Given the description of an element on the screen output the (x, y) to click on. 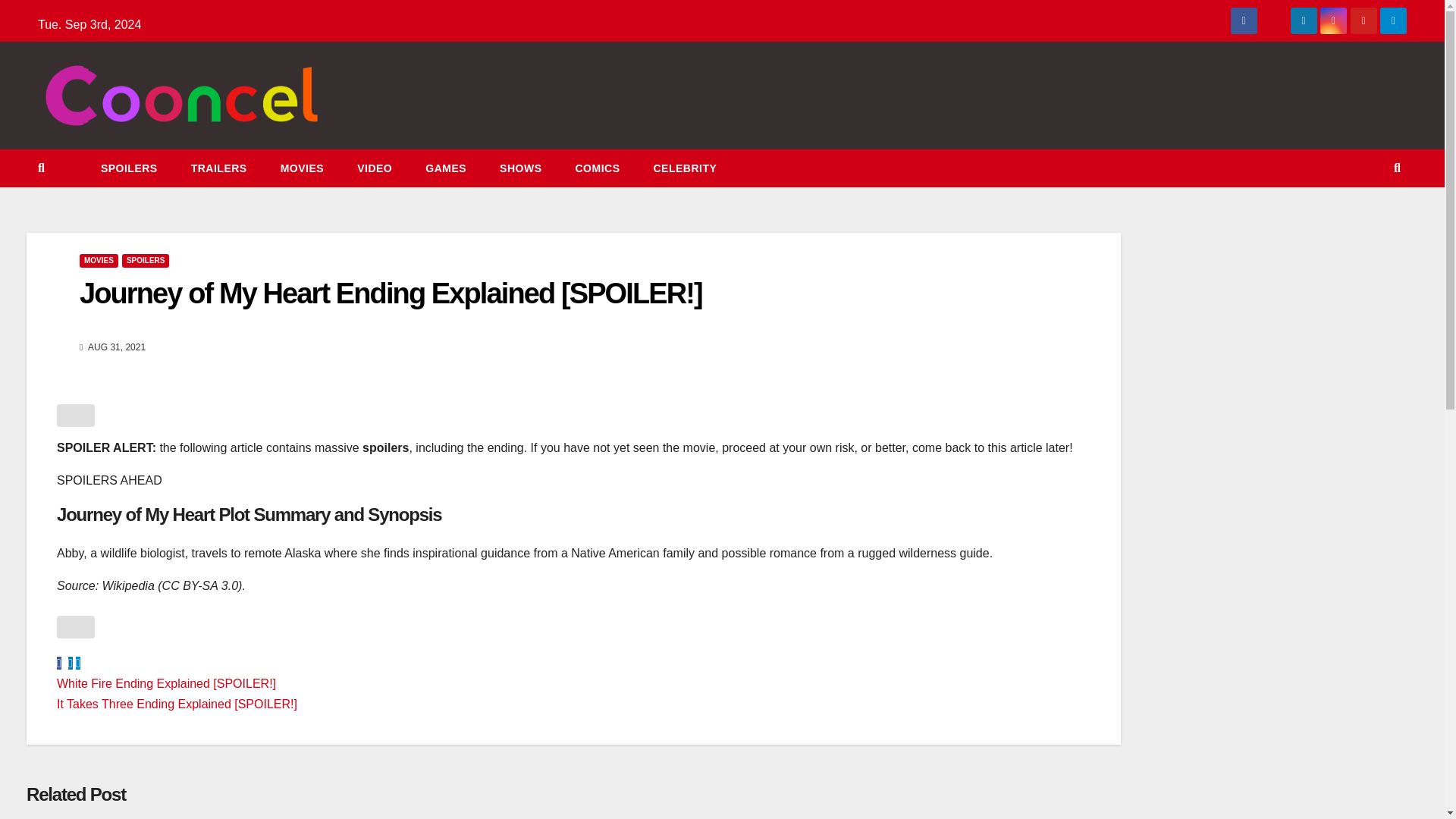
VIDEO (374, 168)
GAMES (446, 168)
SHOWS (520, 168)
COMICS (596, 168)
Video (374, 168)
MOVIES (301, 168)
Comics (596, 168)
Movies (301, 168)
Cooncel (59, 141)
Spoilers (129, 168)
